Given the description of an element on the screen output the (x, y) to click on. 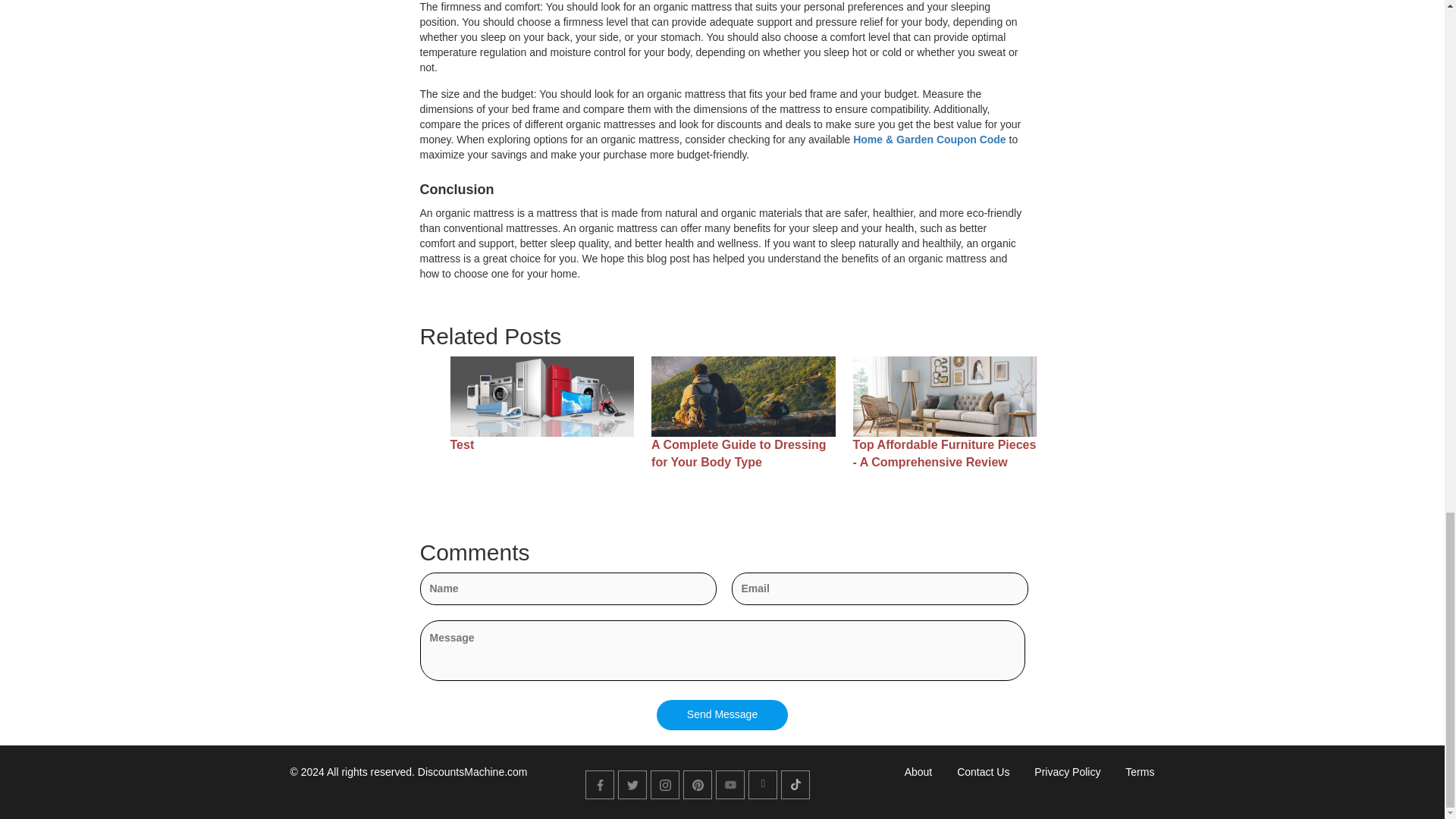
Top Affordable Furniture Pieces - A Comprehensive Review (944, 453)
Privacy Policy (1066, 772)
About (918, 772)
Contact Us (982, 772)
Terms (1139, 772)
A Complete Guide to Dressing for Your Body Type (742, 453)
Send Message (721, 715)
Test (541, 445)
Send Message (721, 715)
